Given the description of an element on the screen output the (x, y) to click on. 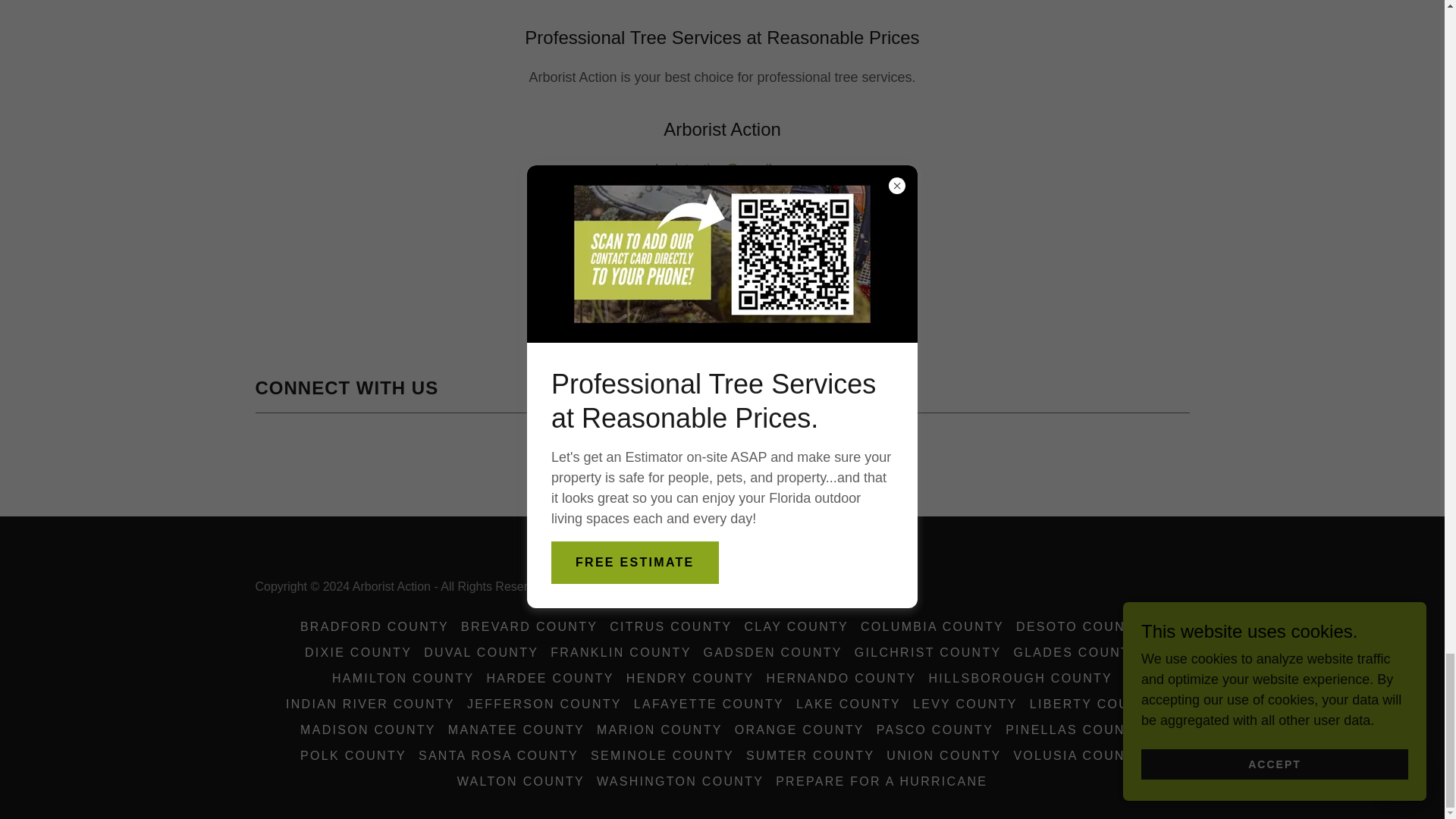
386-259-8182 (721, 189)
